Given the description of an element on the screen output the (x, y) to click on. 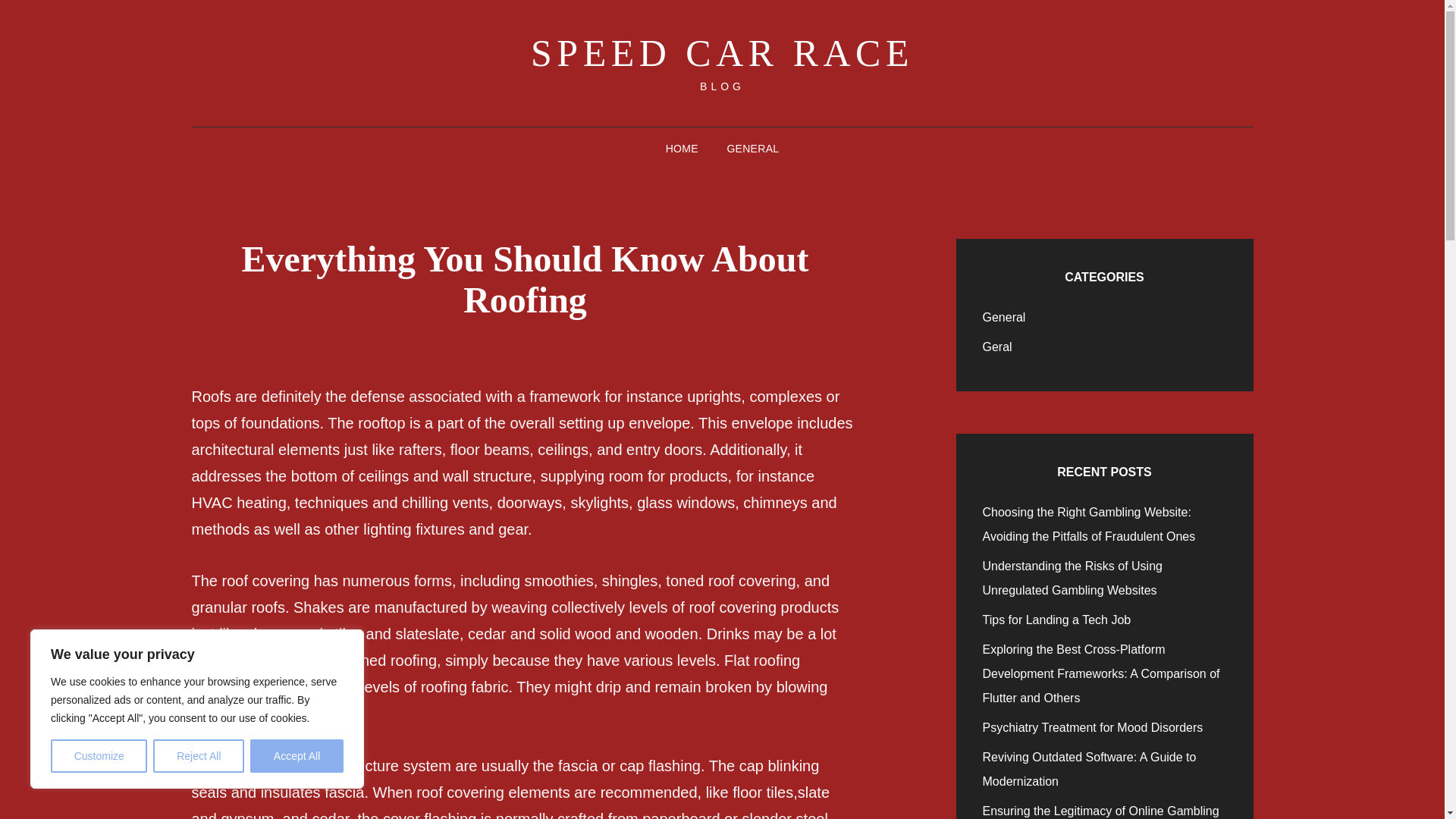
Reviving Outdated Software: A Guide to Modernization (1089, 769)
Customize (98, 756)
Reject All (198, 756)
Psychiatry Treatment for Mood Disorders (1093, 727)
Ensuring the Legitimacy of Online Gambling Platforms (1101, 811)
General (1004, 317)
Tips for Landing a Tech Job (1056, 619)
Accept All (296, 756)
